Given the description of an element on the screen output the (x, y) to click on. 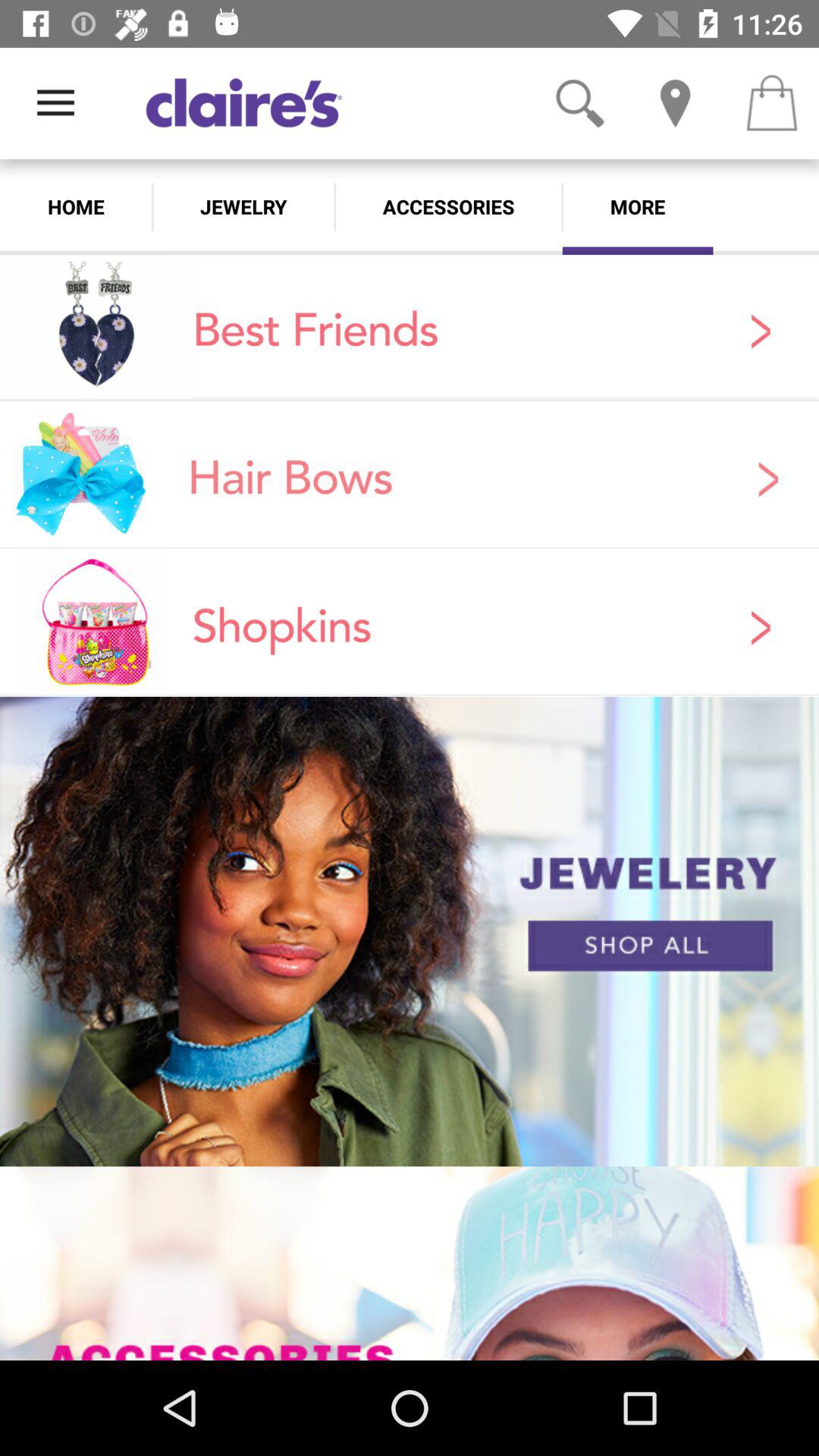
turn off icon next to jewelry app (448, 206)
